Given the description of an element on the screen output the (x, y) to click on. 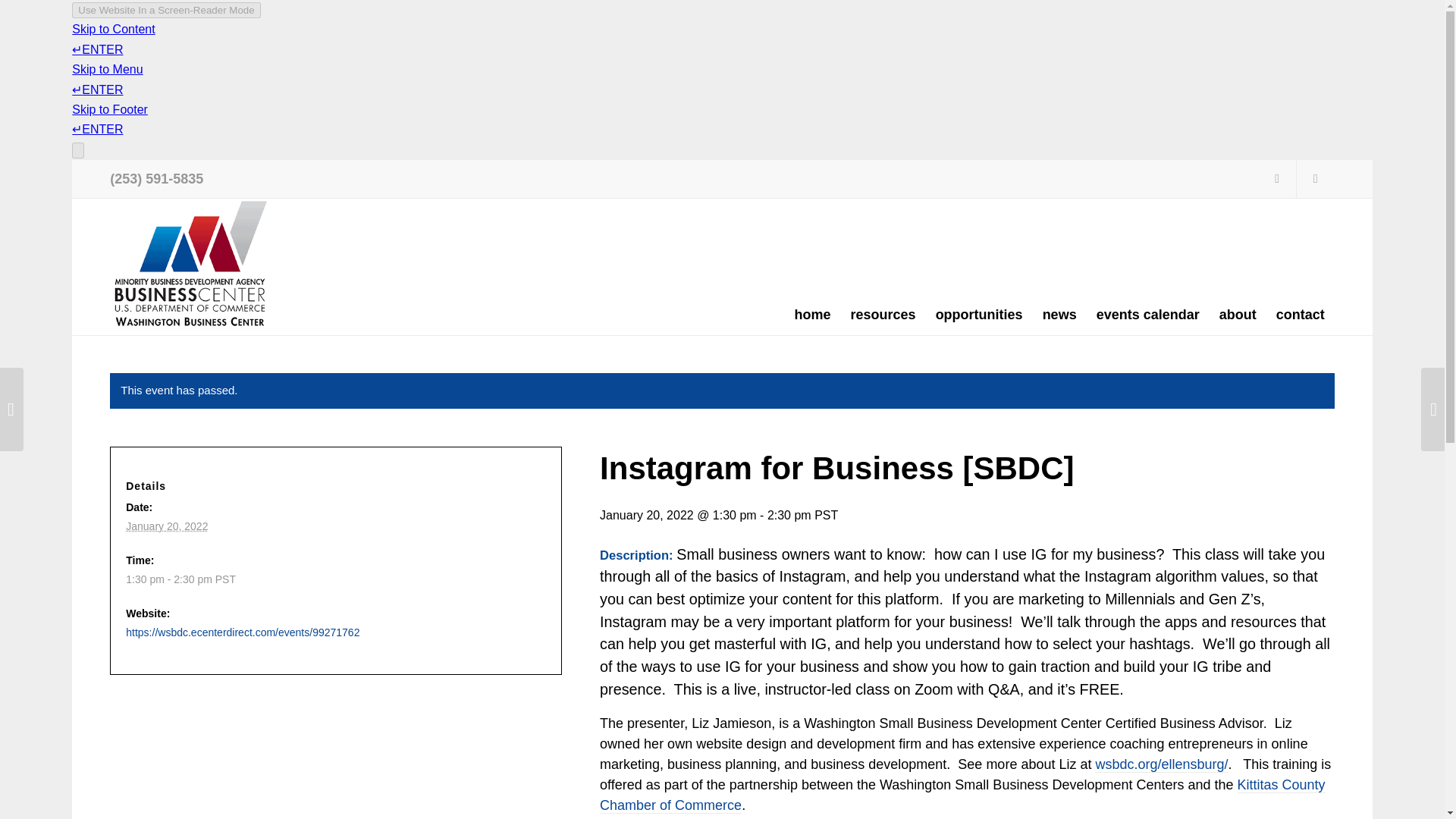
2022-01-20 (166, 526)
news (1059, 314)
2022-01-20 (327, 579)
events calendar (1147, 314)
home (812, 314)
Facebook (1277, 178)
about (1237, 314)
resources (883, 314)
opportunities (979, 314)
